Given the description of an element on the screen output the (x, y) to click on. 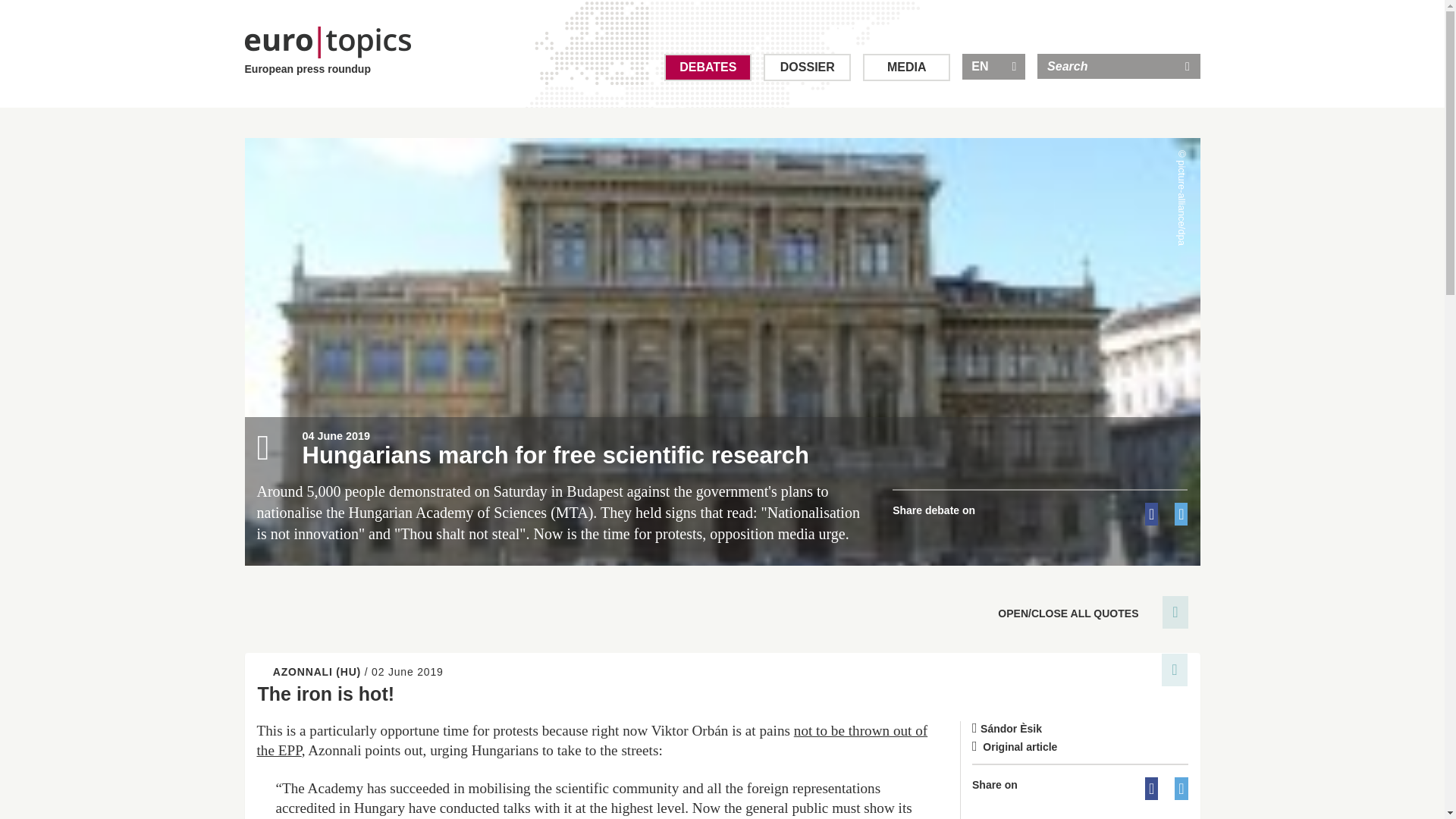
DOSSIER (806, 67)
Dossier (806, 67)
DEBATES (707, 67)
European press roundup (327, 52)
MEDIA (906, 67)
Homepage (327, 52)
not to be thrown out of the EPP (591, 740)
Debates (707, 67)
Media (906, 67)
